Given the description of an element on the screen output the (x, y) to click on. 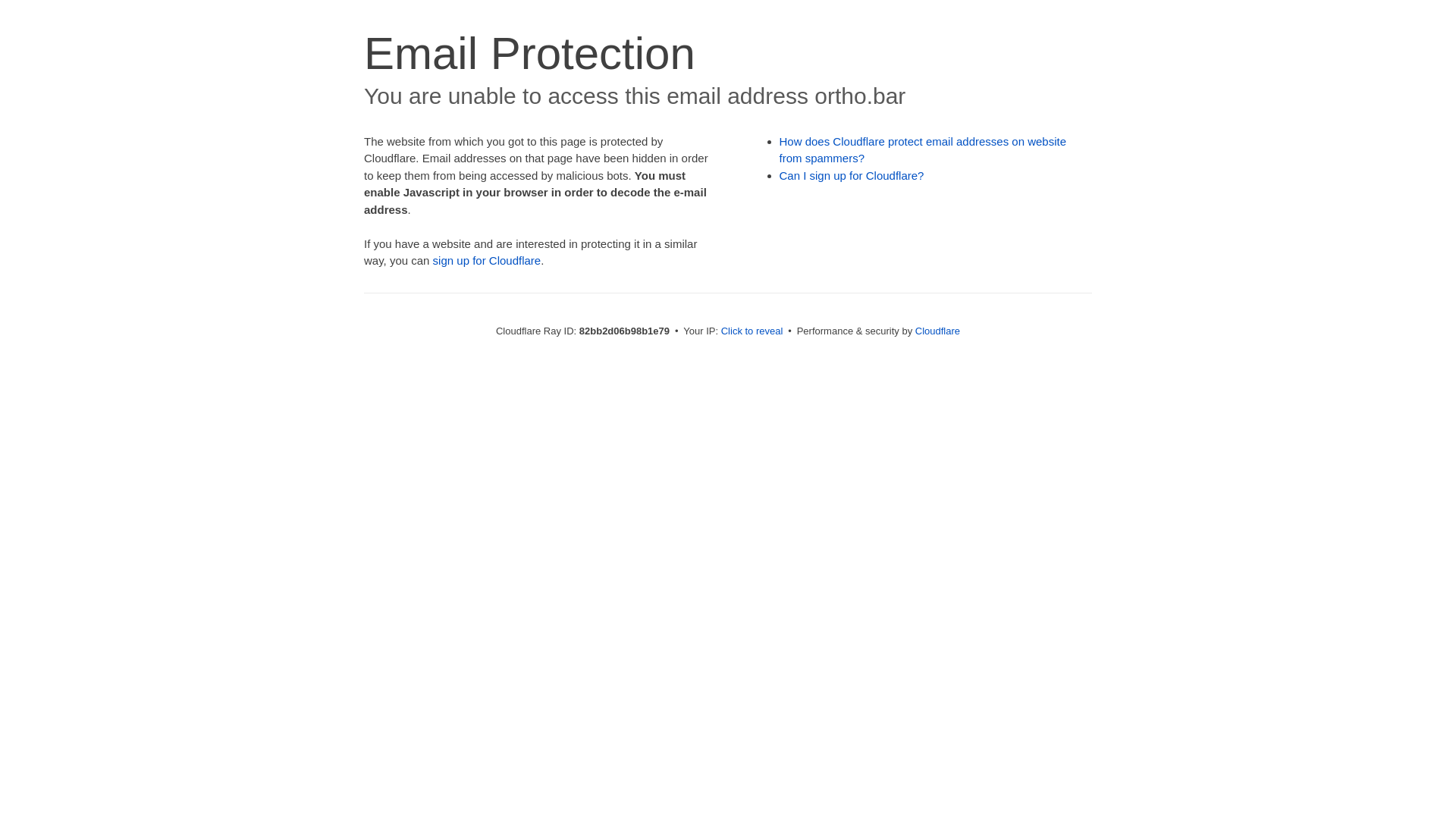
Click to reveal Element type: text (752, 330)
sign up for Cloudflare Element type: text (487, 260)
Cloudflare Element type: text (937, 330)
Can I sign up for Cloudflare? Element type: text (851, 175)
